Given the description of an element on the screen output the (x, y) to click on. 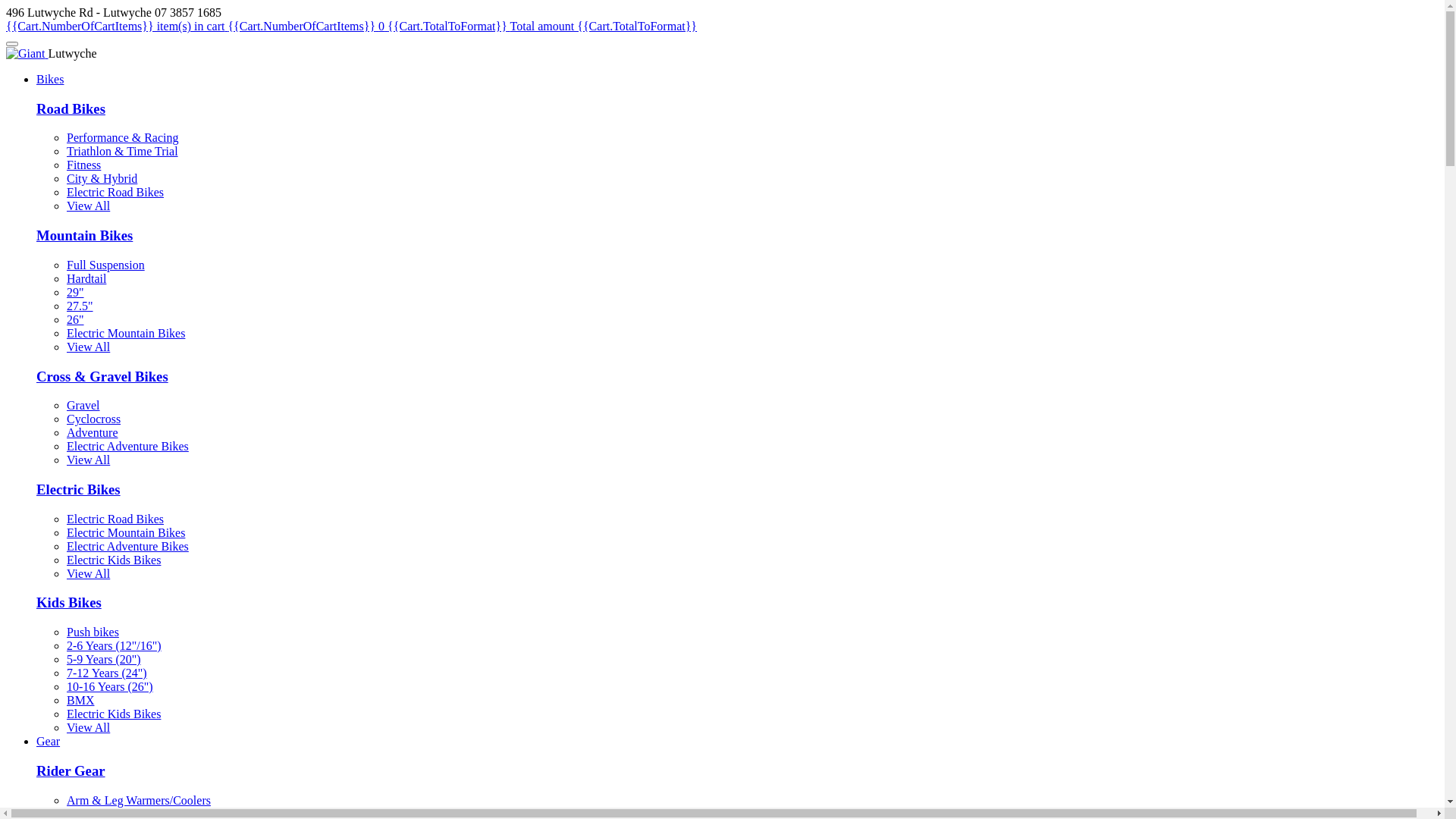
View All Element type: text (87, 346)
Kids Bikes Element type: text (68, 602)
Adventure Element type: text (92, 432)
27.5" Element type: text (79, 305)
26" Element type: text (75, 319)
City & Hybrid Element type: text (101, 178)
Bikes Element type: text (49, 78)
BMX Element type: text (80, 699)
Electric Kids Bikes Element type: text (113, 713)
Road Bikes Element type: text (70, 108)
Rider Gear Element type: text (70, 770)
7-12 Years (24") Element type: text (106, 672)
Hardtail Element type: text (86, 278)
View All Element type: text (87, 205)
Cyclocross Element type: text (93, 418)
Electric Adventure Bikes Element type: text (127, 445)
Electric Mountain Bikes Element type: text (125, 332)
Gear Element type: text (47, 740)
Triathlon & Time Trial Element type: text (122, 150)
View All Element type: text (87, 459)
Arm & Leg Warmers/Coolers Element type: text (138, 799)
2-6 Years (12"/16") Element type: text (113, 645)
Fitness Element type: text (83, 164)
Gravel Element type: text (83, 404)
Performance & Racing Element type: text (122, 137)
Electric Adventure Bikes Element type: text (127, 545)
View All Element type: text (87, 573)
Cross & Gravel Bikes Element type: text (102, 376)
Push bikes Element type: text (92, 631)
Electric Road Bikes Element type: text (114, 191)
10-16 Years (26") Element type: text (109, 686)
Electric Mountain Bikes Element type: text (125, 532)
View All Element type: text (87, 727)
Electric Bikes Element type: text (78, 489)
5-9 Years (20") Element type: text (103, 658)
29" Element type: text (75, 291)
Electric Kids Bikes Element type: text (113, 559)
Mountain Bikes Element type: text (84, 235)
Full Suspension Element type: text (105, 264)
Electric Road Bikes Element type: text (114, 518)
